Given the description of an element on the screen output the (x, y) to click on. 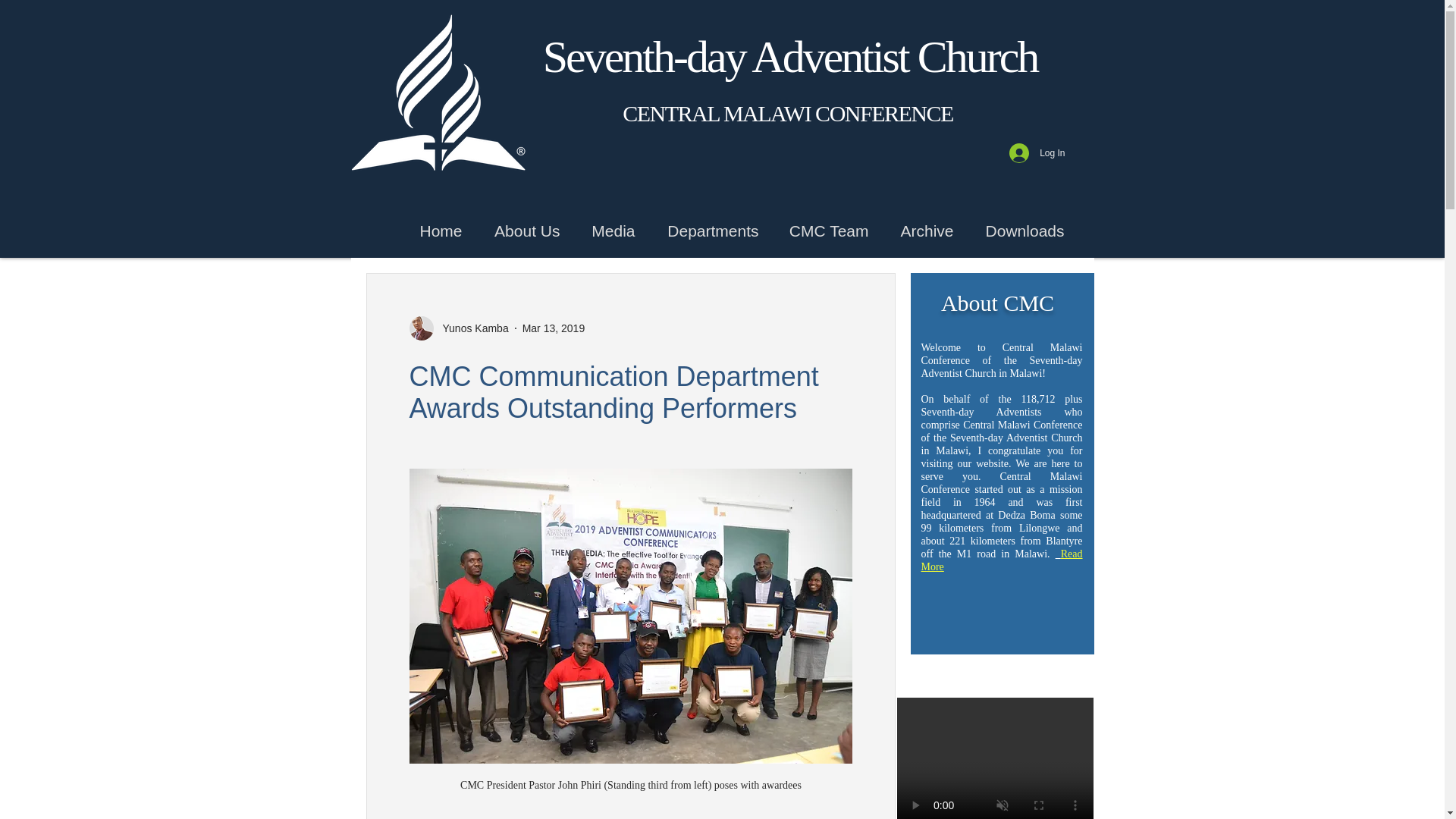
Archive (921, 230)
Downloads (1019, 230)
adventist-symbol--denim.png (434, 90)
Mar 13, 2019 (553, 327)
Home (436, 230)
Yunos Kamba (470, 327)
Log In (1036, 152)
Yunos Kamba (458, 328)
